Given the description of an element on the screen output the (x, y) to click on. 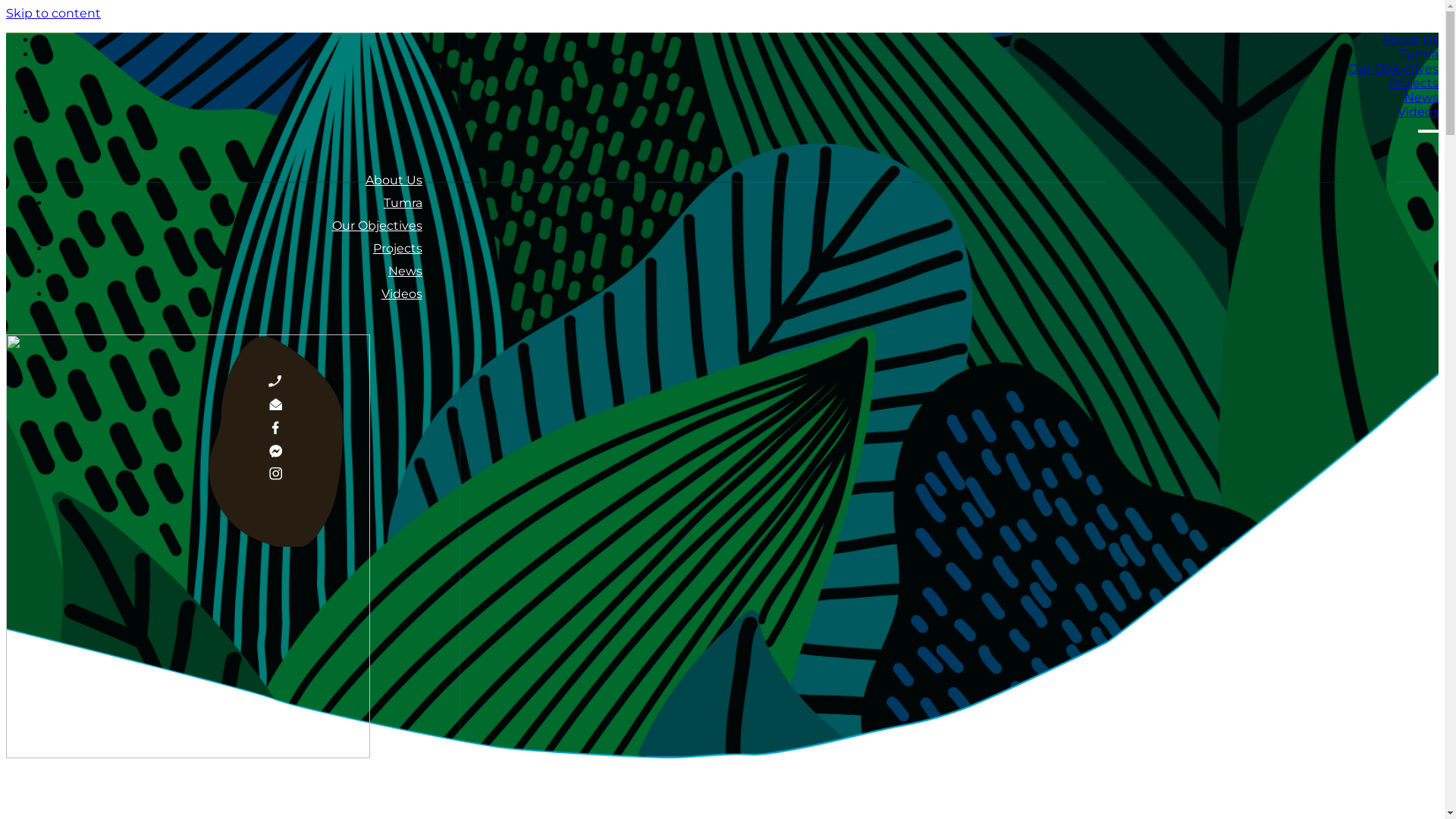
Projects Element type: text (397, 243)
Our Objectives Element type: text (377, 221)
Tumra Element type: text (402, 198)
Tumra Element type: text (1418, 54)
About Us Element type: text (1409, 39)
Videos Element type: text (1417, 111)
Skip to content Element type: text (53, 13)
News Element type: text (1421, 97)
About Us Element type: text (393, 175)
Our Objectives Element type: text (1393, 68)
Projects Element type: text (1413, 82)
Videos Element type: text (401, 289)
News Element type: text (405, 266)
